Given the description of an element on the screen output the (x, y) to click on. 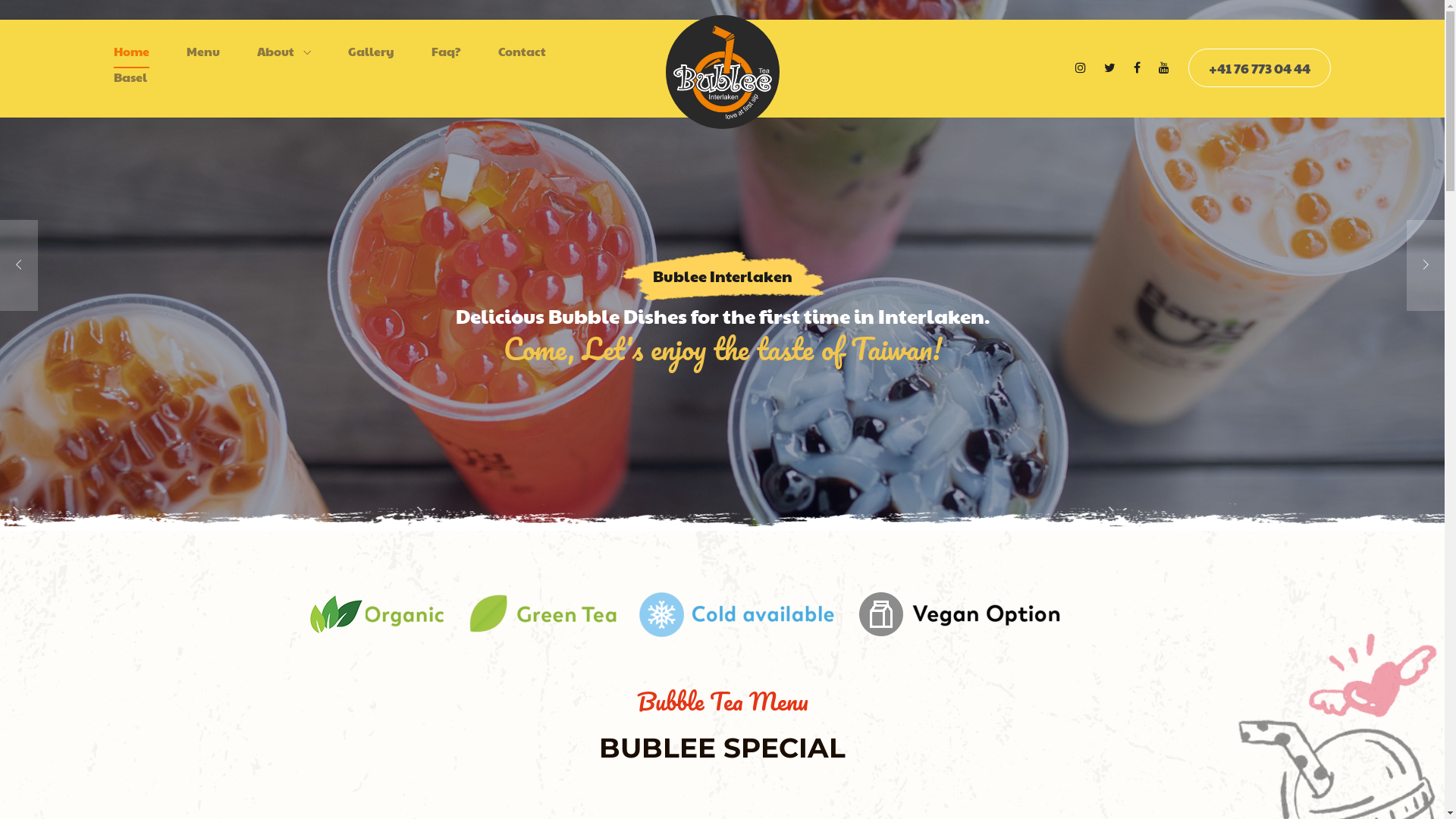
About Element type: text (283, 55)
Contact Element type: text (522, 55)
Faq? Element type: text (446, 55)
Home Element type: text (131, 55)
Menu Element type: text (202, 55)
Gallery Element type: text (371, 55)
+41 76 773 04 44 Element type: text (1259, 67)
Basel Element type: text (130, 81)
